Given the description of an element on the screen output the (x, y) to click on. 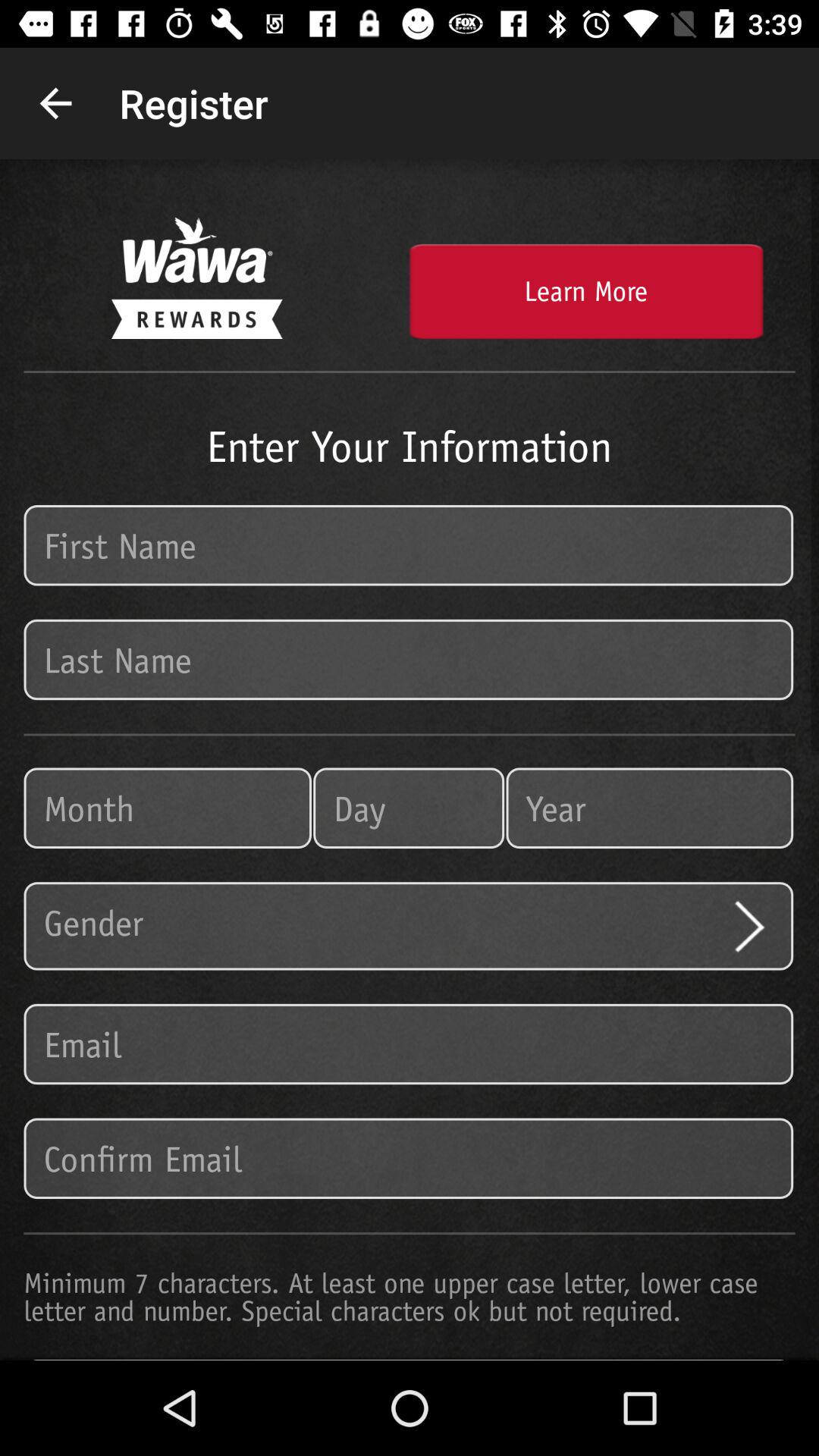
jump until the learn more item (585, 290)
